Given the description of an element on the screen output the (x, y) to click on. 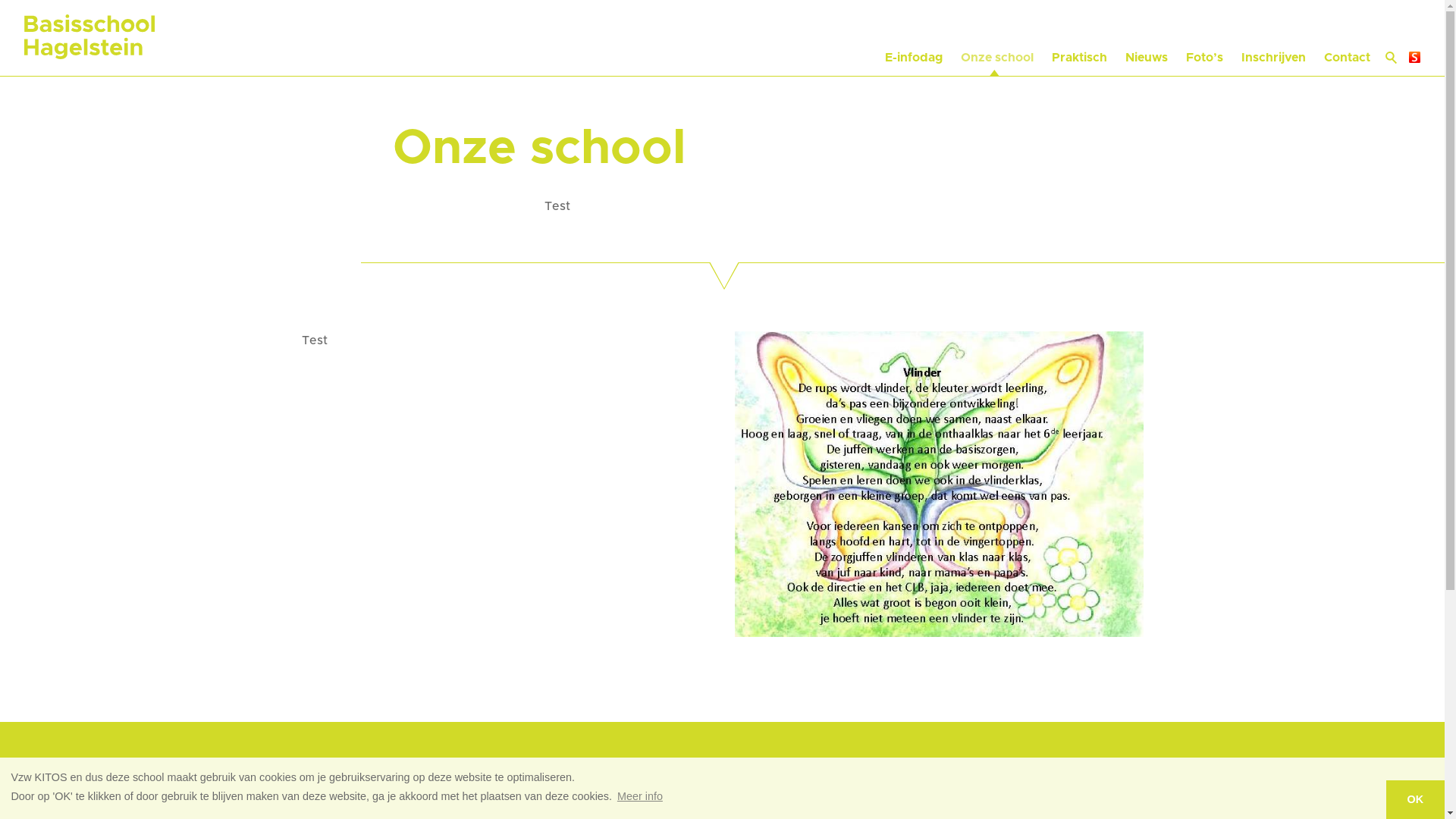
Inschrijven Element type: text (1273, 37)
Onze school Element type: text (996, 37)
Nieuws Element type: text (760, 804)
Contact Element type: text (1346, 37)
Meer info Element type: text (640, 796)
Schoolleven Element type: text (992, 804)
E-infodag Element type: text (913, 37)
Onze school Element type: text (561, 804)
Praktisch Element type: text (1079, 37)
Nieuws Element type: text (1146, 37)
